Given the description of an element on the screen output the (x, y) to click on. 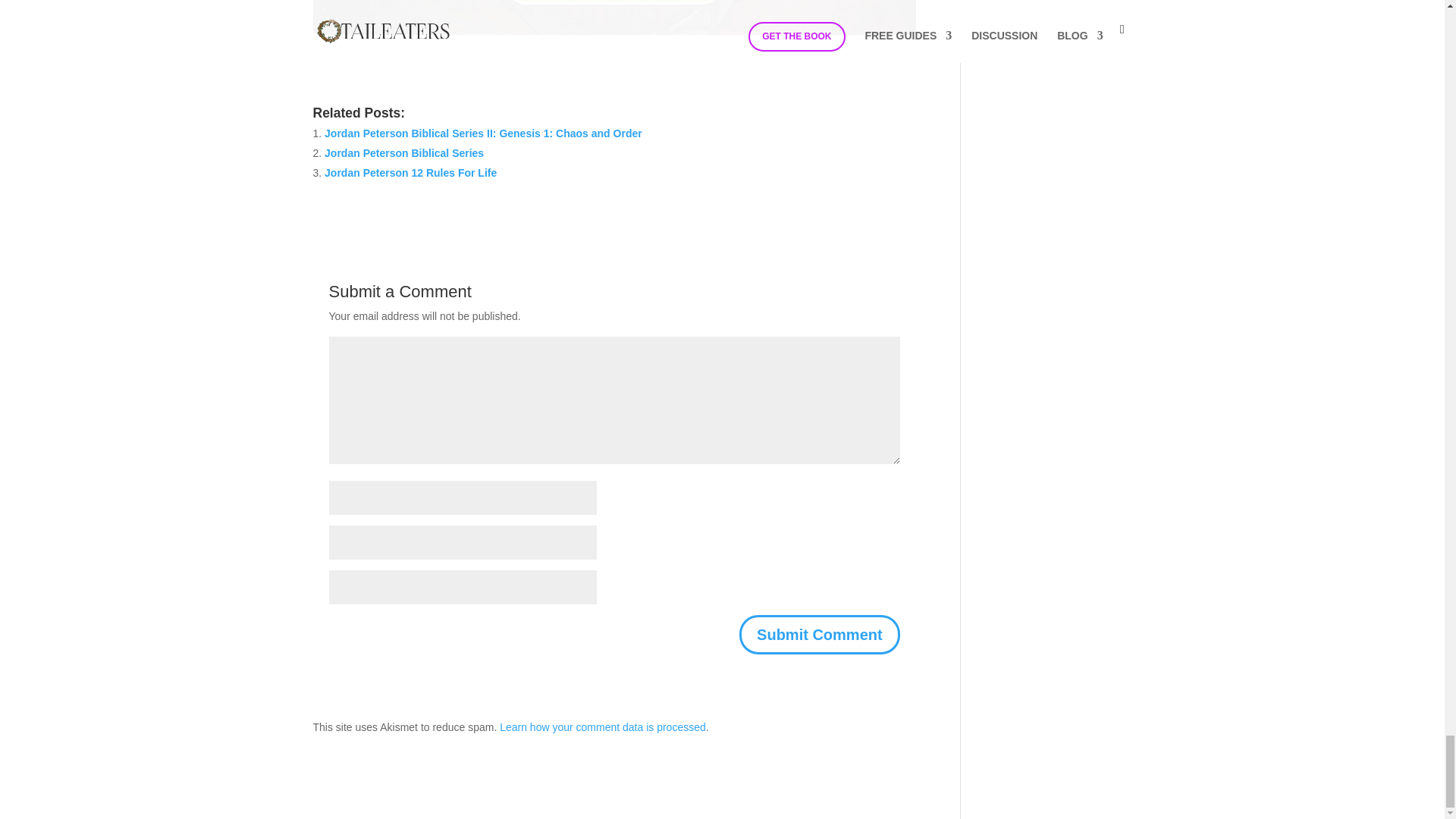
Jordan Peterson 12 Rules For Life (410, 173)
SHARE YOUR OPINIONS (613, 2)
Submit Comment (819, 634)
Jordan Peterson Biblical Series (403, 152)
